Given the description of an element on the screen output the (x, y) to click on. 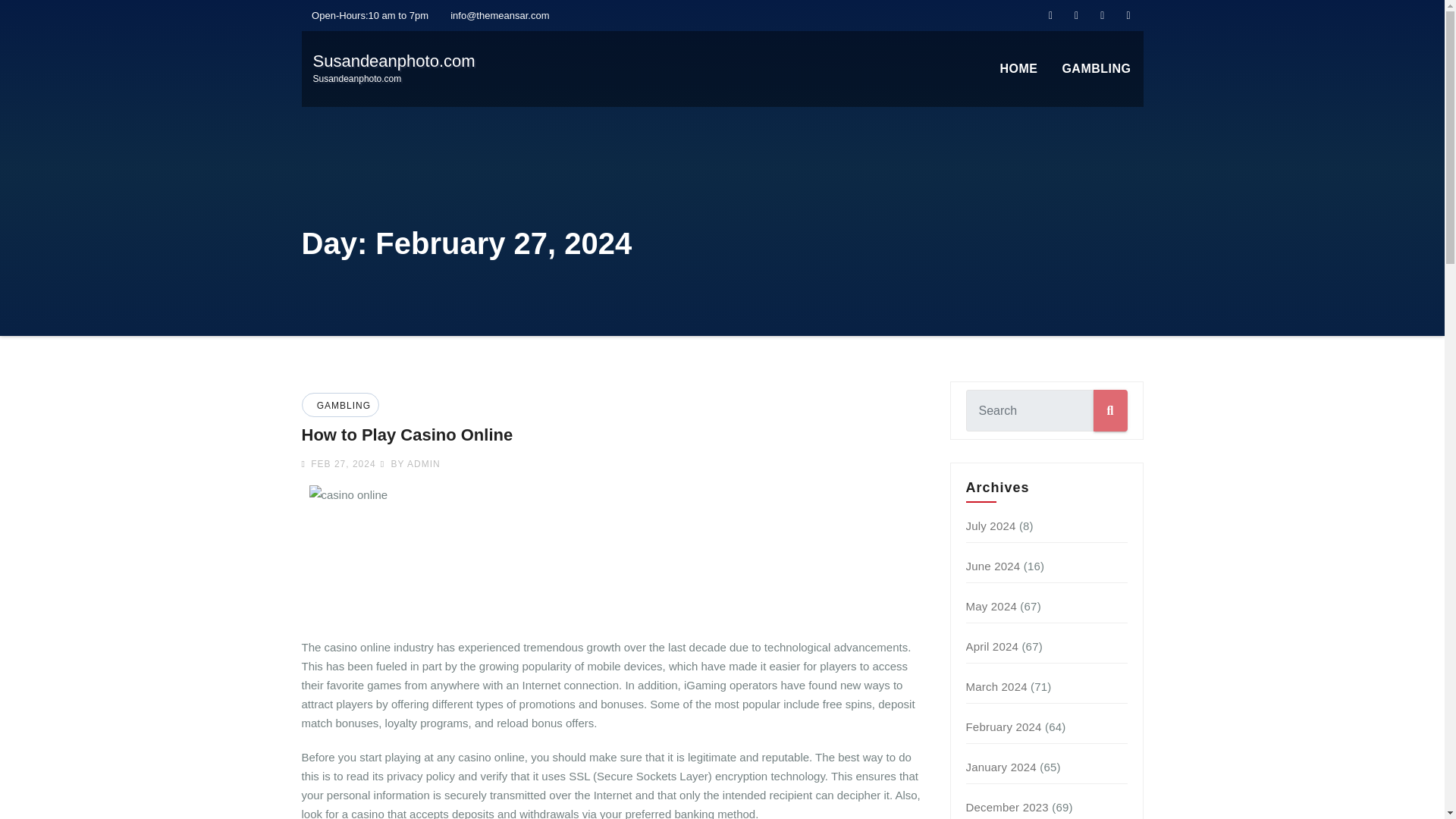
June 2024 (993, 565)
HOME (1018, 69)
Permalink to: How to Play Casino Online (407, 434)
FEB 27, 2024 (341, 463)
GAMBLING (1095, 69)
January 2024 (1001, 766)
GAMBLING (342, 405)
May 2024 (991, 605)
March 2024 (393, 68)
July 2024 (996, 686)
Open-Hours:10 am to 7pm (991, 525)
BY ADMIN (365, 15)
Gambling (410, 463)
December 2023 (1095, 69)
